Given the description of an element on the screen output the (x, y) to click on. 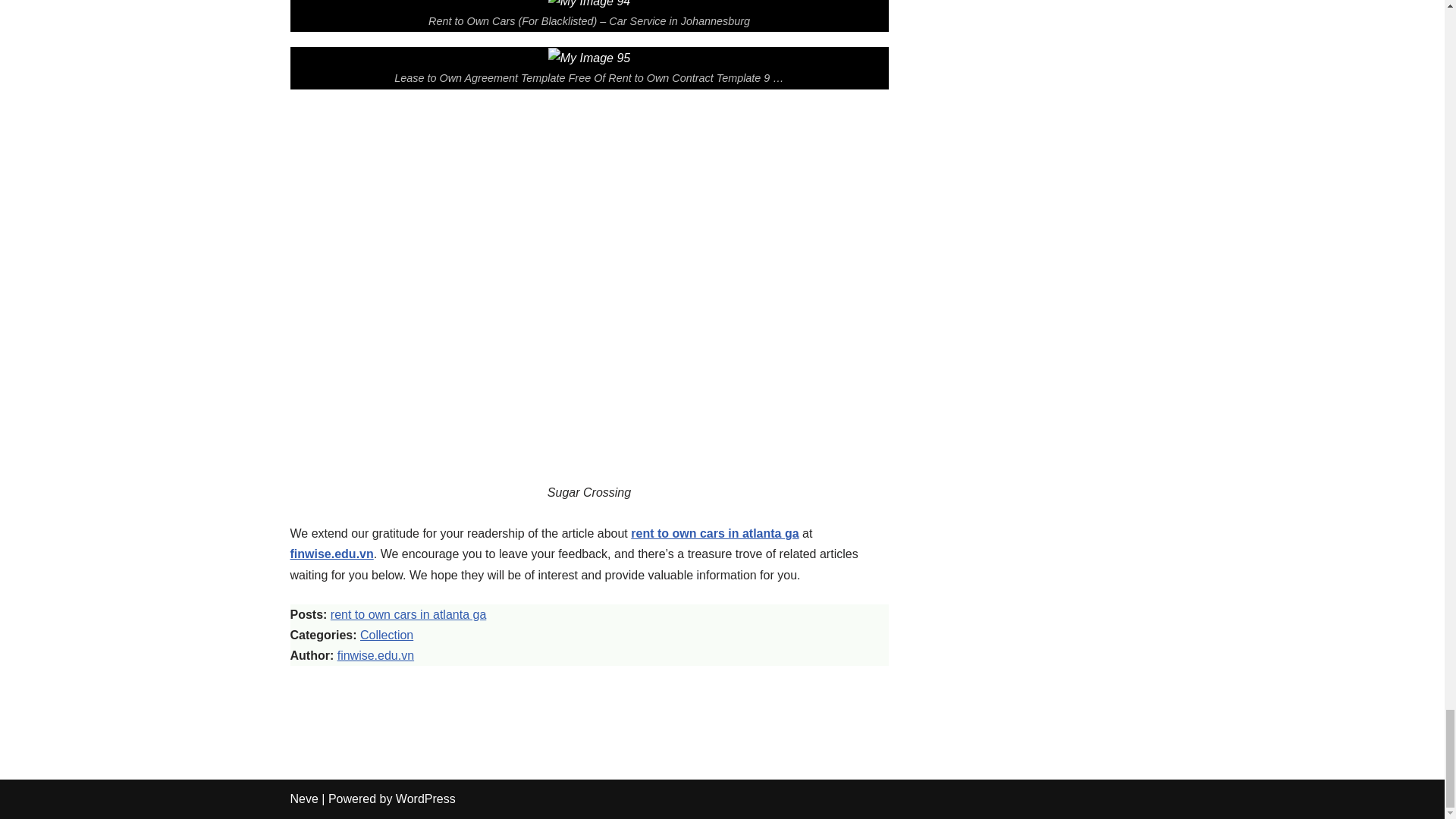
Collection (386, 634)
WordPress (425, 798)
finwise.edu.vn (375, 655)
rent to own cars in atlanta ga (408, 614)
rent to own cars in atlanta ga (713, 533)
Neve (303, 798)
finwise.edu.vn (330, 553)
